Given the description of an element on the screen output the (x, y) to click on. 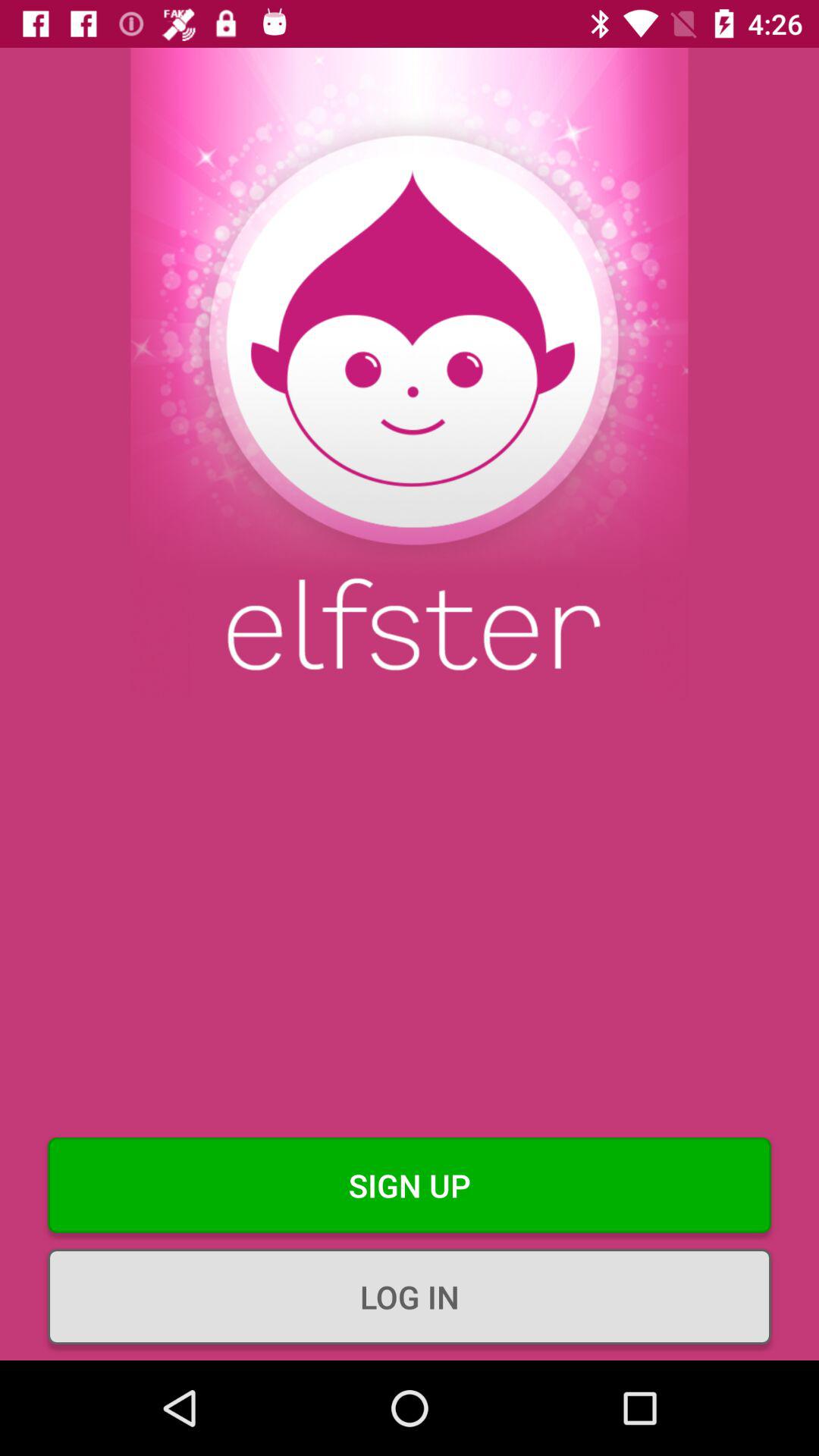
swipe until the log in icon (409, 1296)
